Given the description of an element on the screen output the (x, y) to click on. 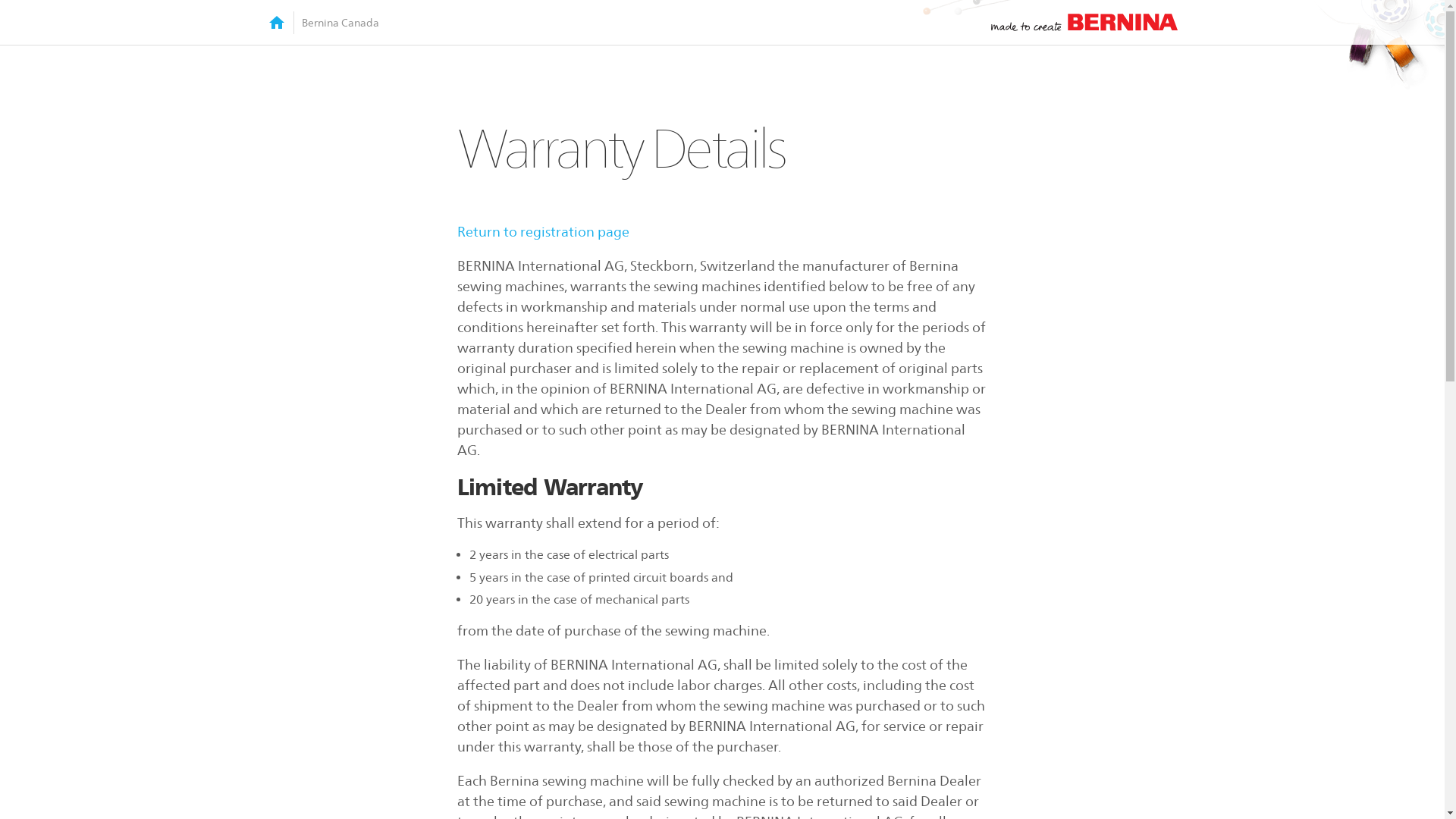
homeBernina Canada Element type: text (322, 21)
Return to registration page Element type: text (542, 231)
